Given the description of an element on the screen output the (x, y) to click on. 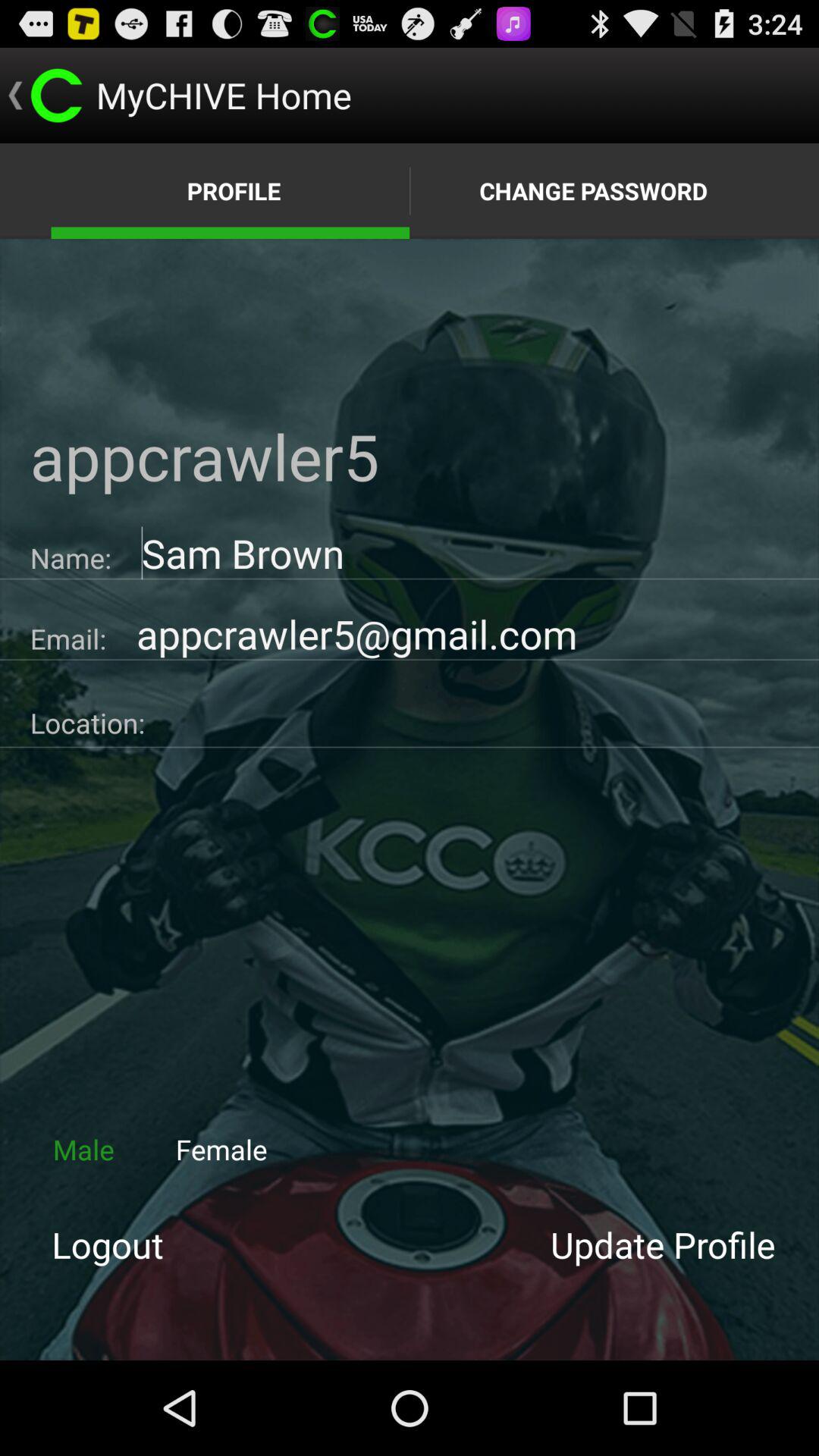
click on the text which is left of the text change password (230, 190)
click on sam brown (465, 553)
select female which is after male on the page (221, 1149)
